Given the description of an element on the screen output the (x, y) to click on. 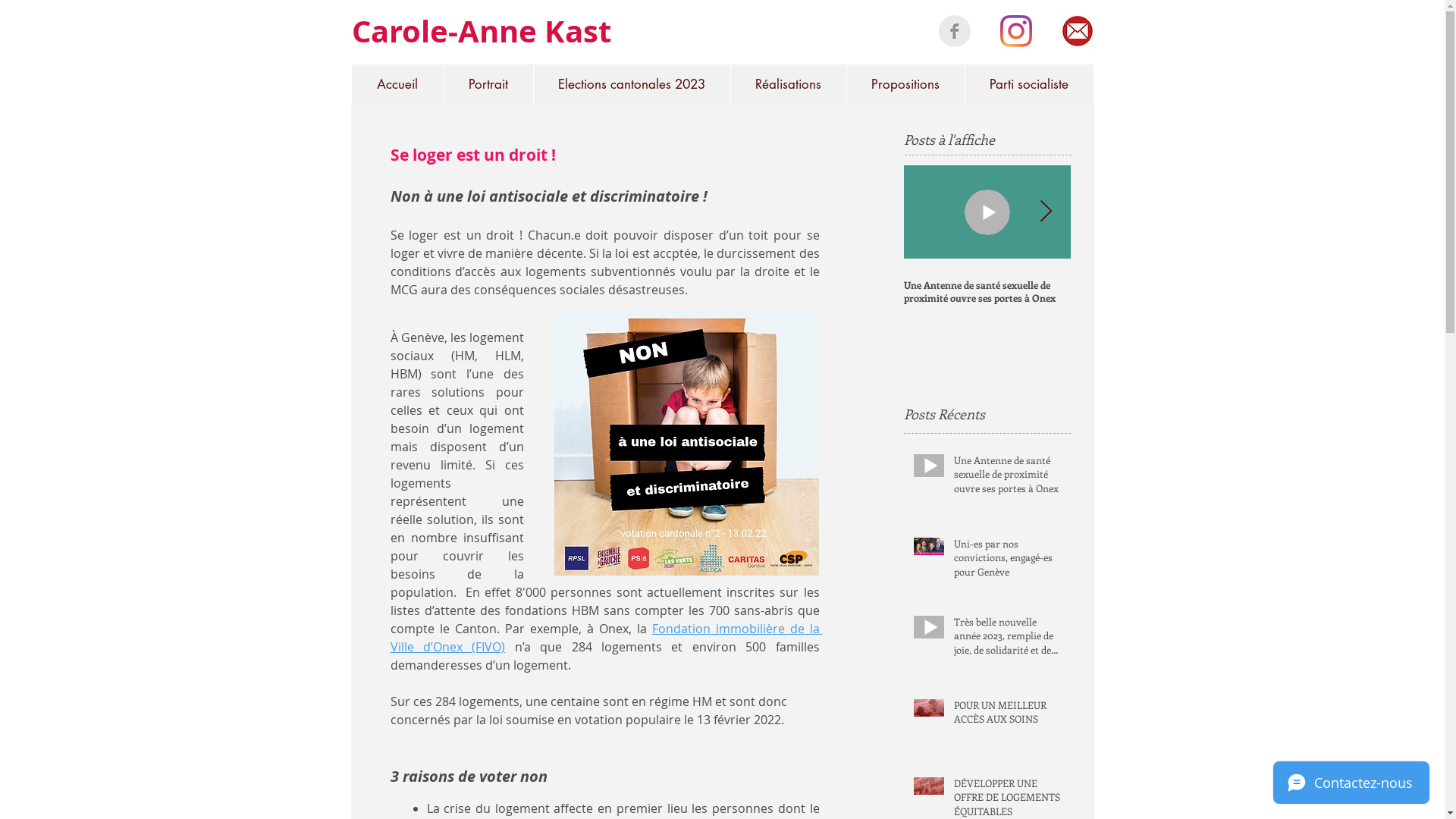
Portrait Element type: text (487, 84)
Elections cantonales 2023 Element type: text (630, 84)
Parti socialiste Element type: text (1028, 84)
Propositions Element type: text (905, 84)
Accueil Element type: text (396, 84)
